Given the description of an element on the screen output the (x, y) to click on. 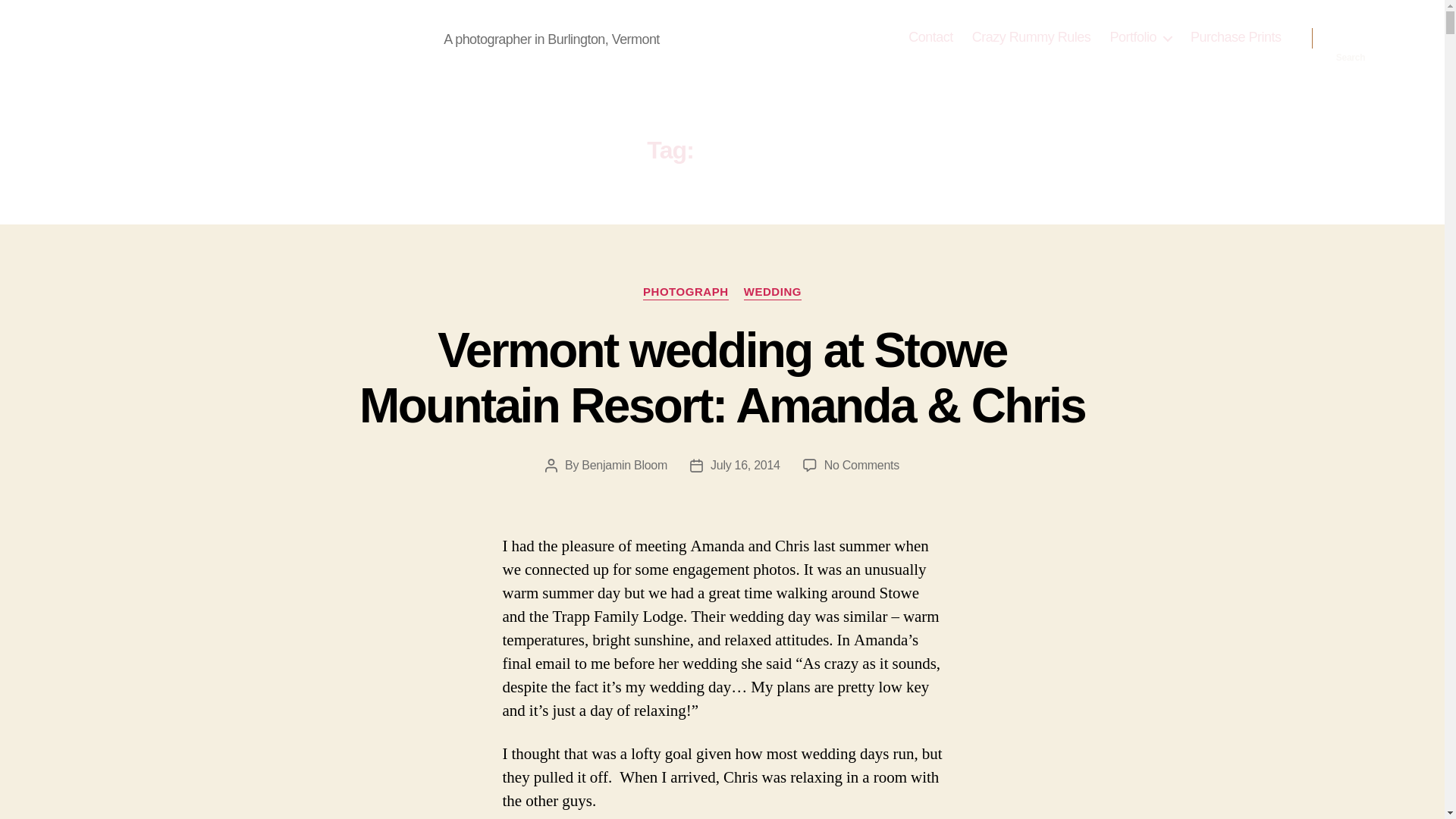
Portfolio (1140, 37)
Search (1350, 37)
Vermont Photographer Benjamin D. Bloom (254, 37)
July 16, 2014 (745, 464)
WEDDING (773, 292)
PHOTOGRAPH (686, 292)
Purchase Prints (1236, 37)
Contact (930, 37)
Benjamin Bloom (623, 464)
Crazy Rummy Rules (1031, 37)
